Given the description of an element on the screen output the (x, y) to click on. 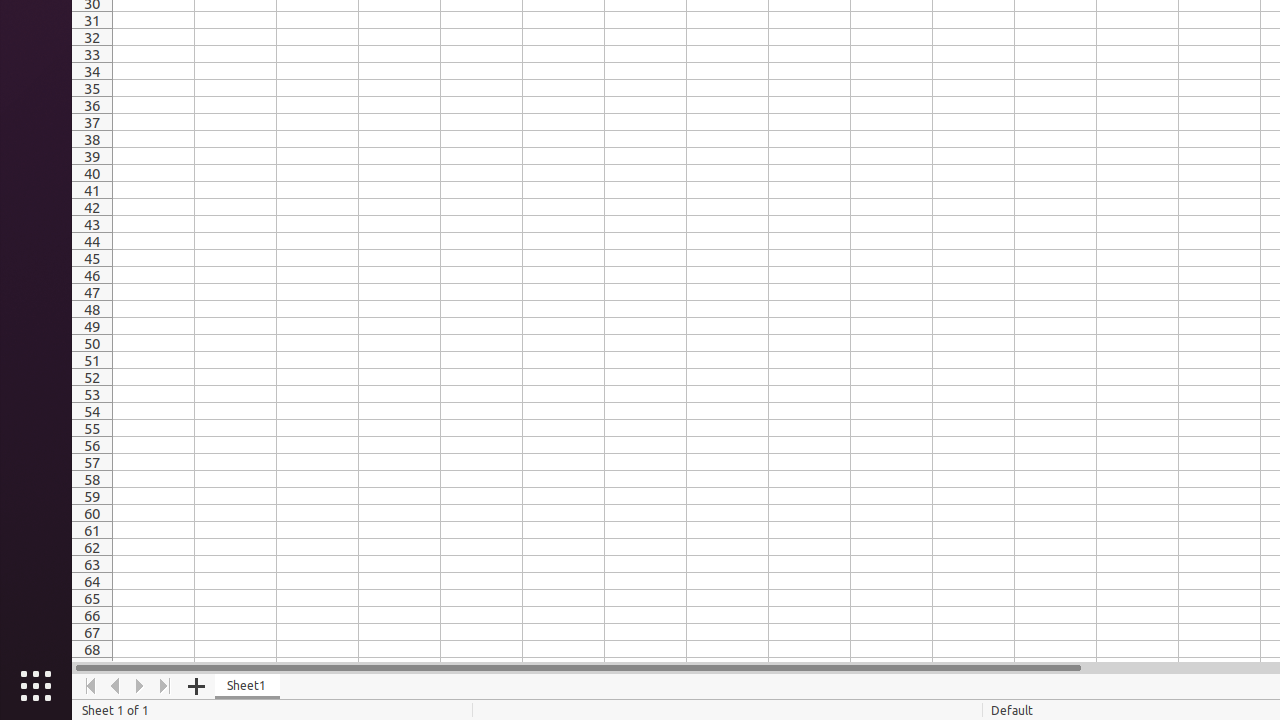
Sheet1 Element type: page-tab (247, 686)
